Given the description of an element on the screen output the (x, y) to click on. 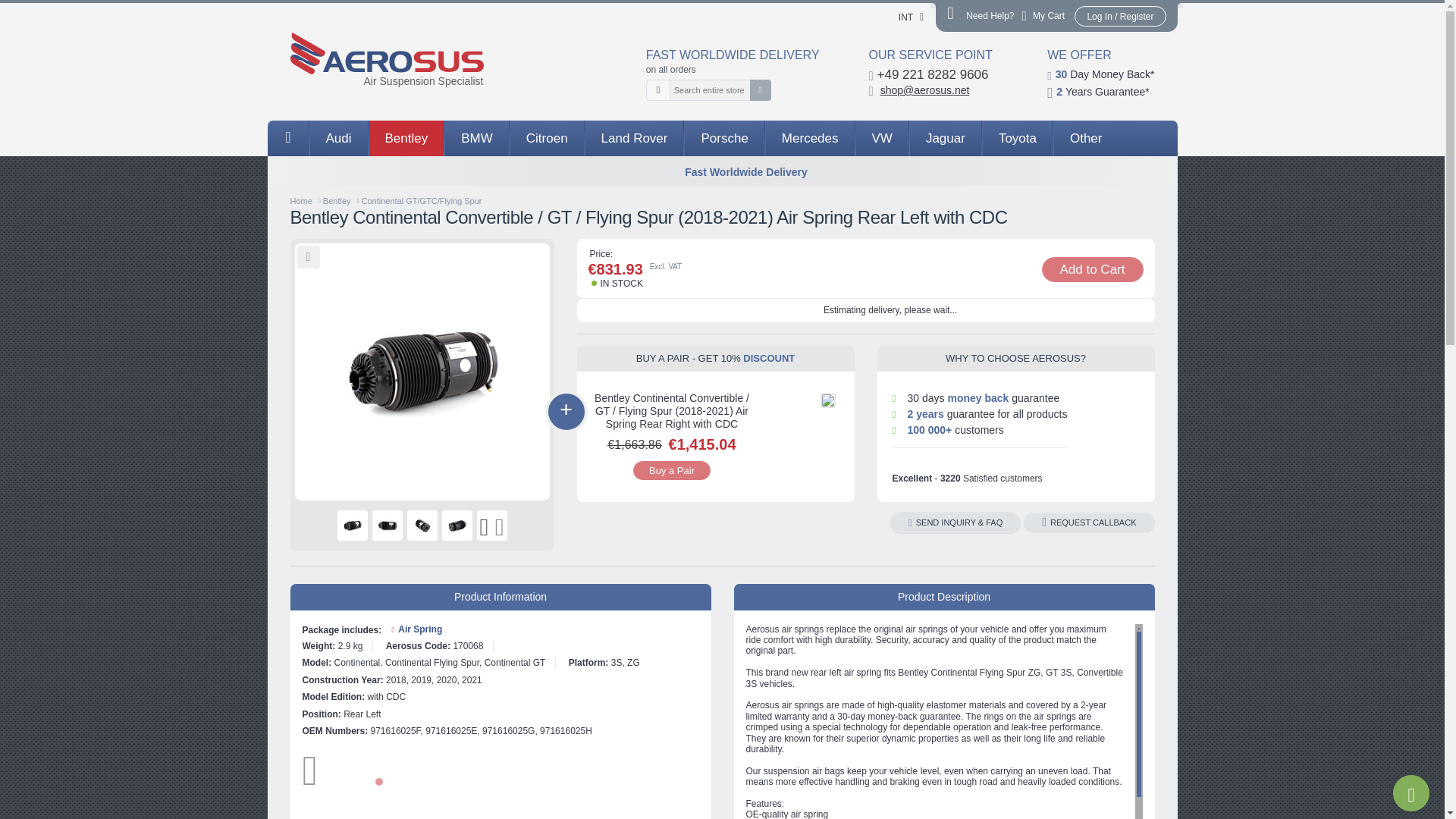
Need Help (980, 16)
Need Help? (980, 16)
Air Suspension Specialist (386, 59)
Search (760, 89)
My Cart (1044, 17)
